Given the description of an element on the screen output the (x, y) to click on. 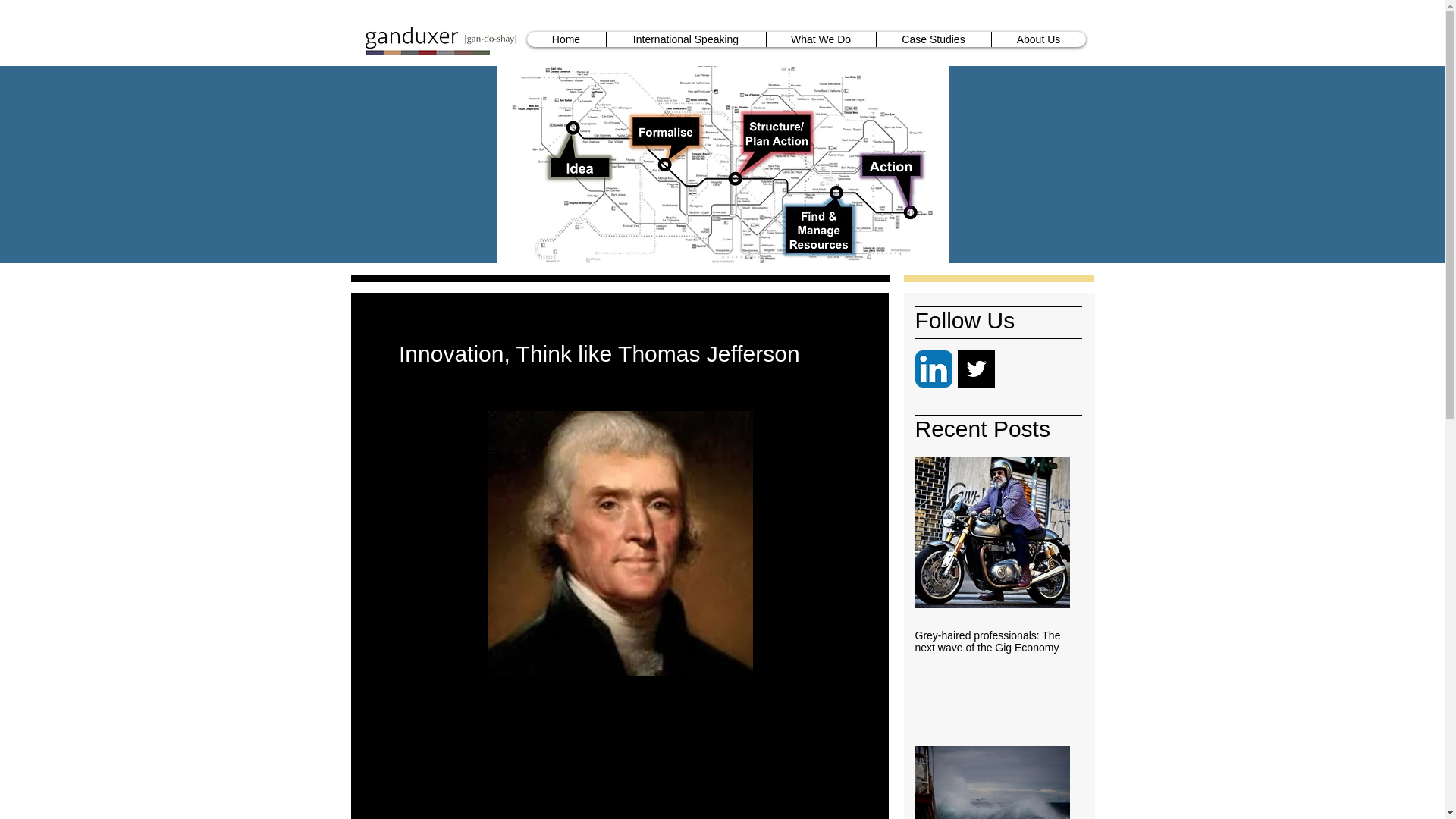
What We Do (820, 38)
About Us (1037, 38)
Grey-haired professionals: The next wave of the Gig Economy (991, 641)
Case Studies (932, 38)
Ganduxer logo vector no tagline.jpg (442, 39)
International Speaking (685, 38)
Home (565, 38)
